Given the description of an element on the screen output the (x, y) to click on. 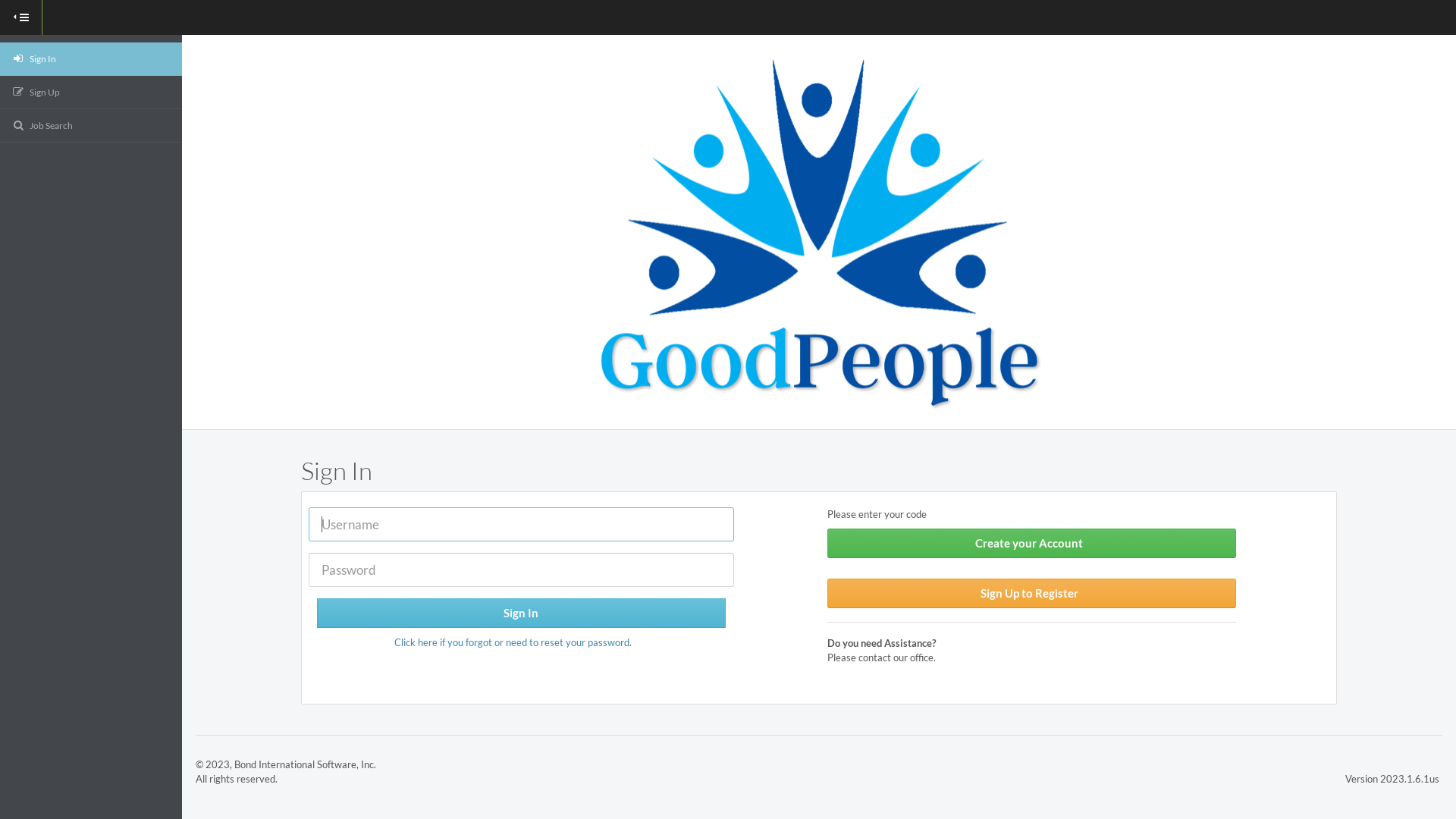
Click here if you forgot or need to reset your password. Element type: text (512, 642)
Sign In Element type: text (520, 612)
Sign Up Element type: text (91, 91)
Create your Account Element type: text (1031, 543)
Sign Up to Register Element type: text (1031, 593)
Job Search Element type: text (91, 125)
Sign In Element type: text (91, 58)
